Given the description of an element on the screen output the (x, y) to click on. 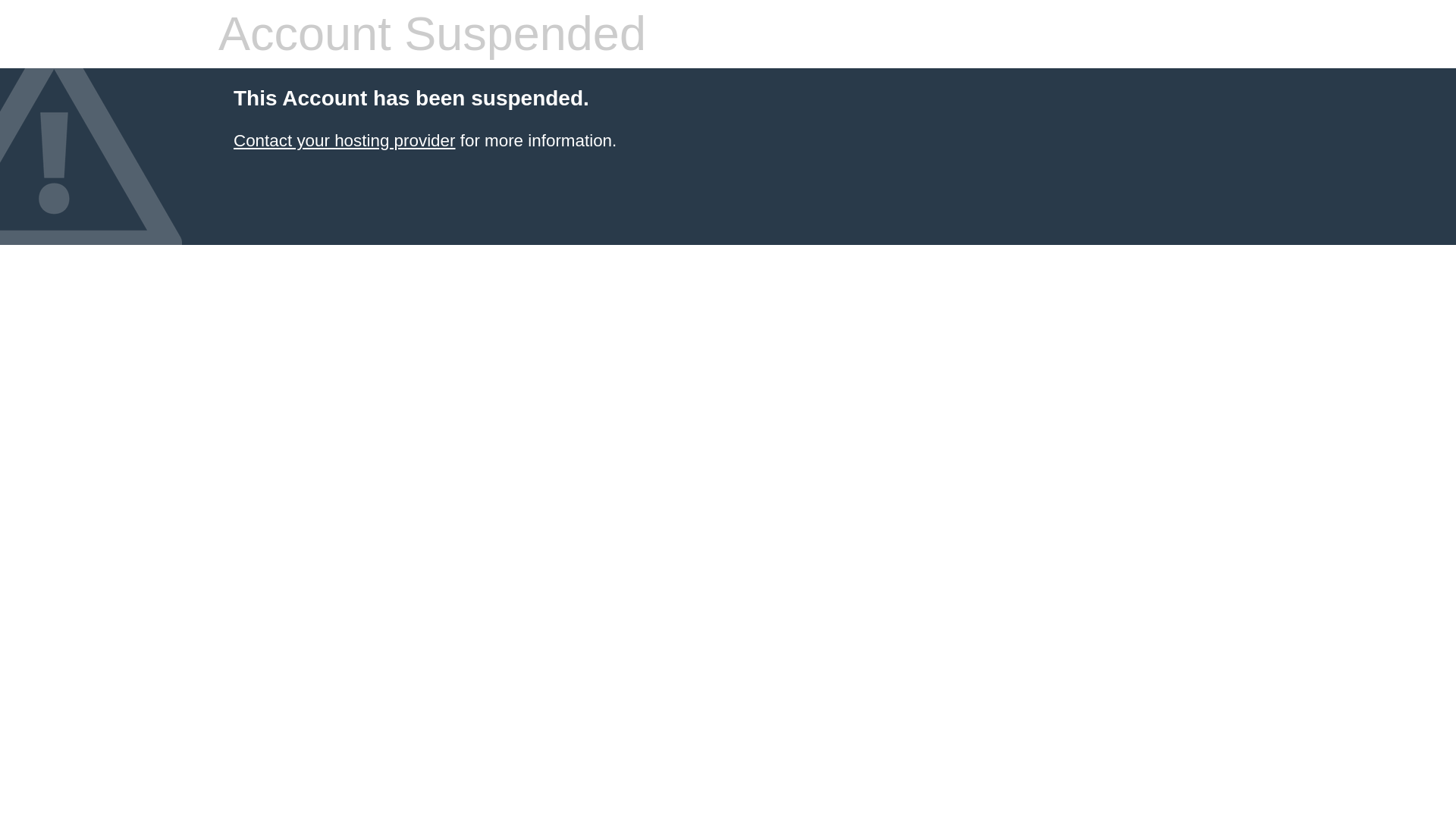
Contact your hosting provider (343, 140)
